Given the description of an element on the screen output the (x, y) to click on. 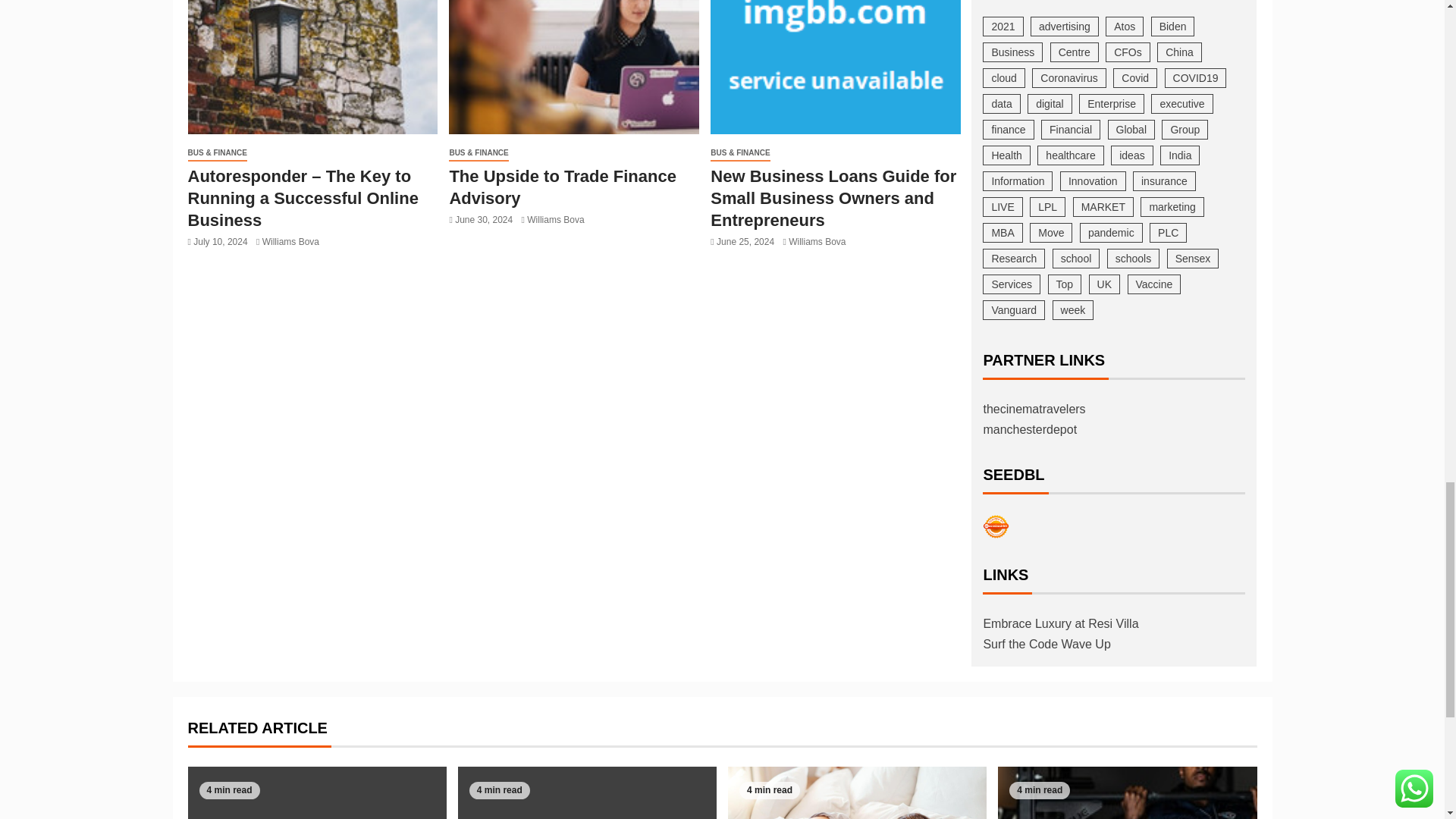
The Upside to Trade Finance Advisory (573, 67)
